Given the description of an element on the screen output the (x, y) to click on. 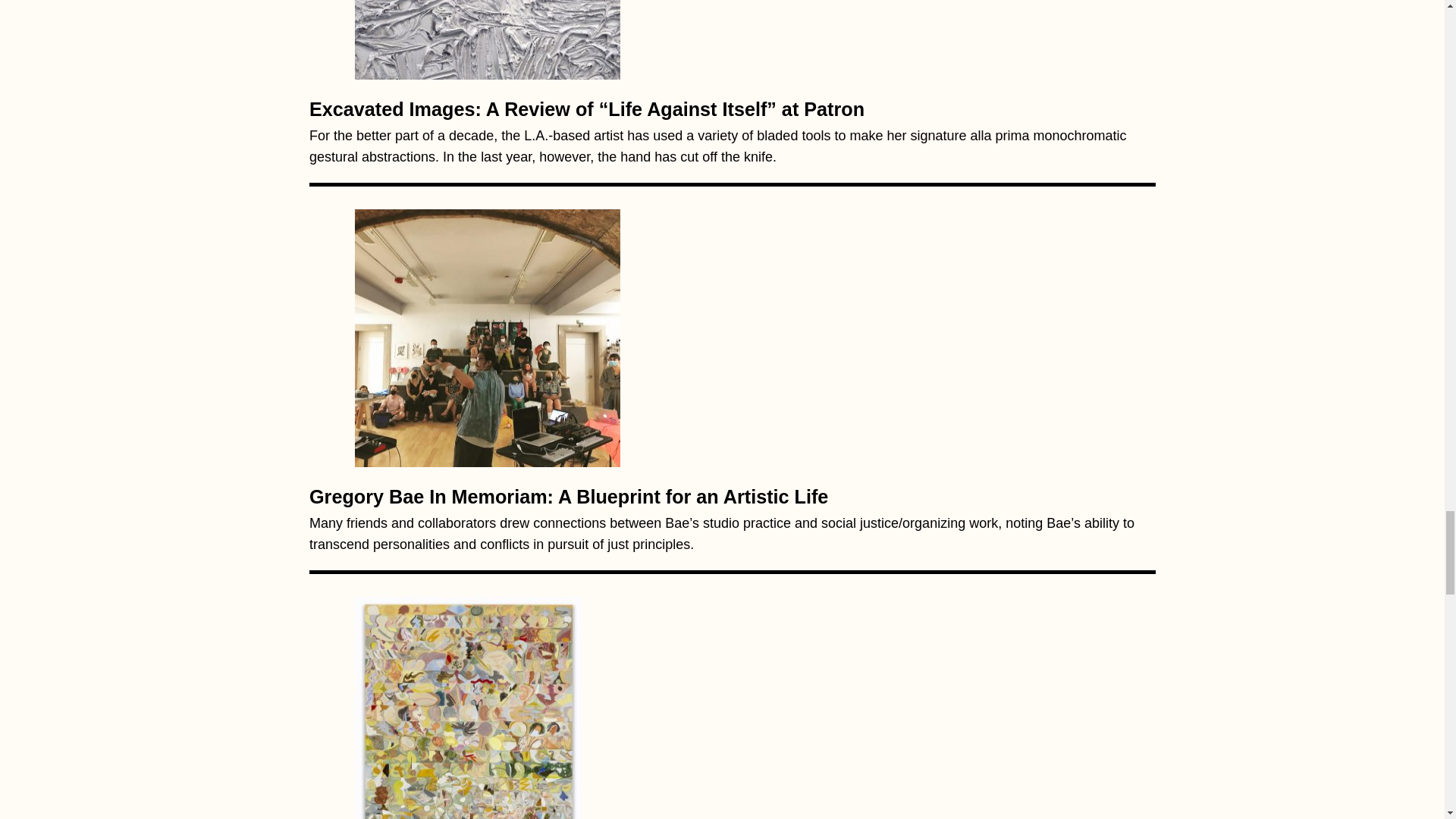
Gregory Bae In Memoriam: A Blueprint for an Artistic Life (487, 333)
